Given the description of an element on the screen output the (x, y) to click on. 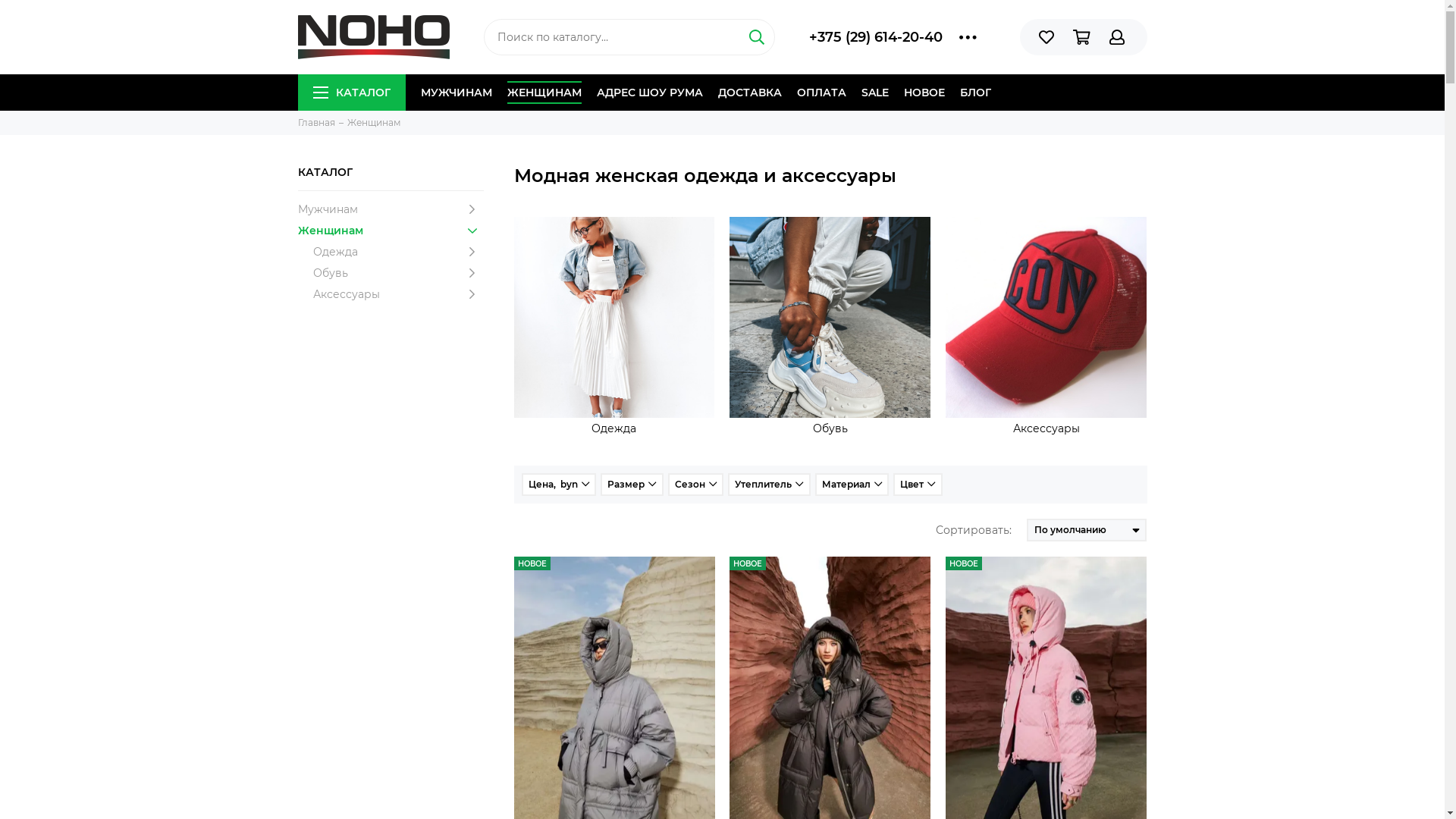
SALE Element type: text (874, 92)
+375 (29) 614-20-40 Element type: text (875, 36)
